Given the description of an element on the screen output the (x, y) to click on. 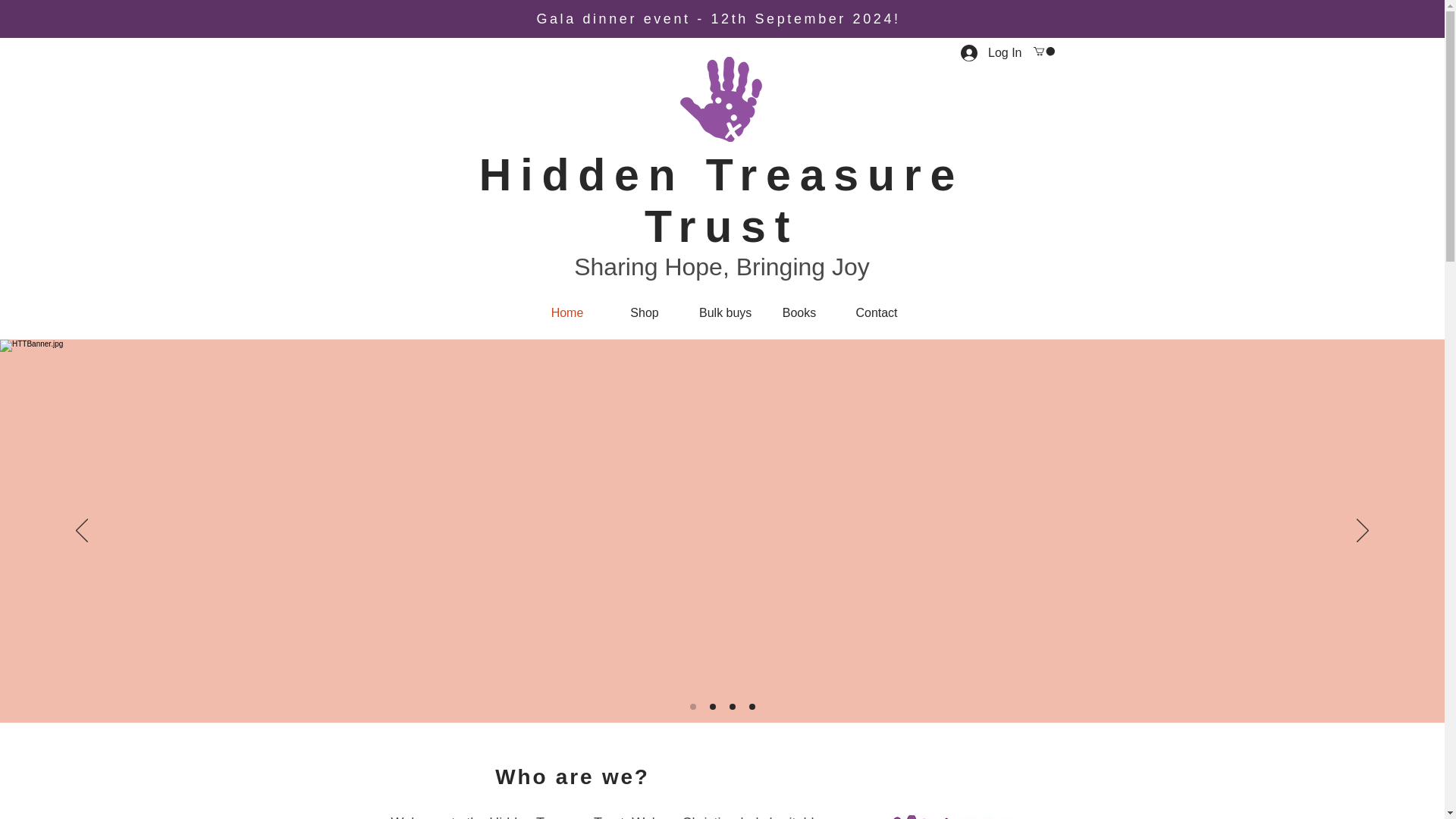
Contact (876, 313)
Hidden Treasure Trust (721, 200)
Home (566, 313)
Shop (643, 313)
Books (799, 313)
Bulk buys (721, 313)
Log In (991, 53)
